Given the description of an element on the screen output the (x, y) to click on. 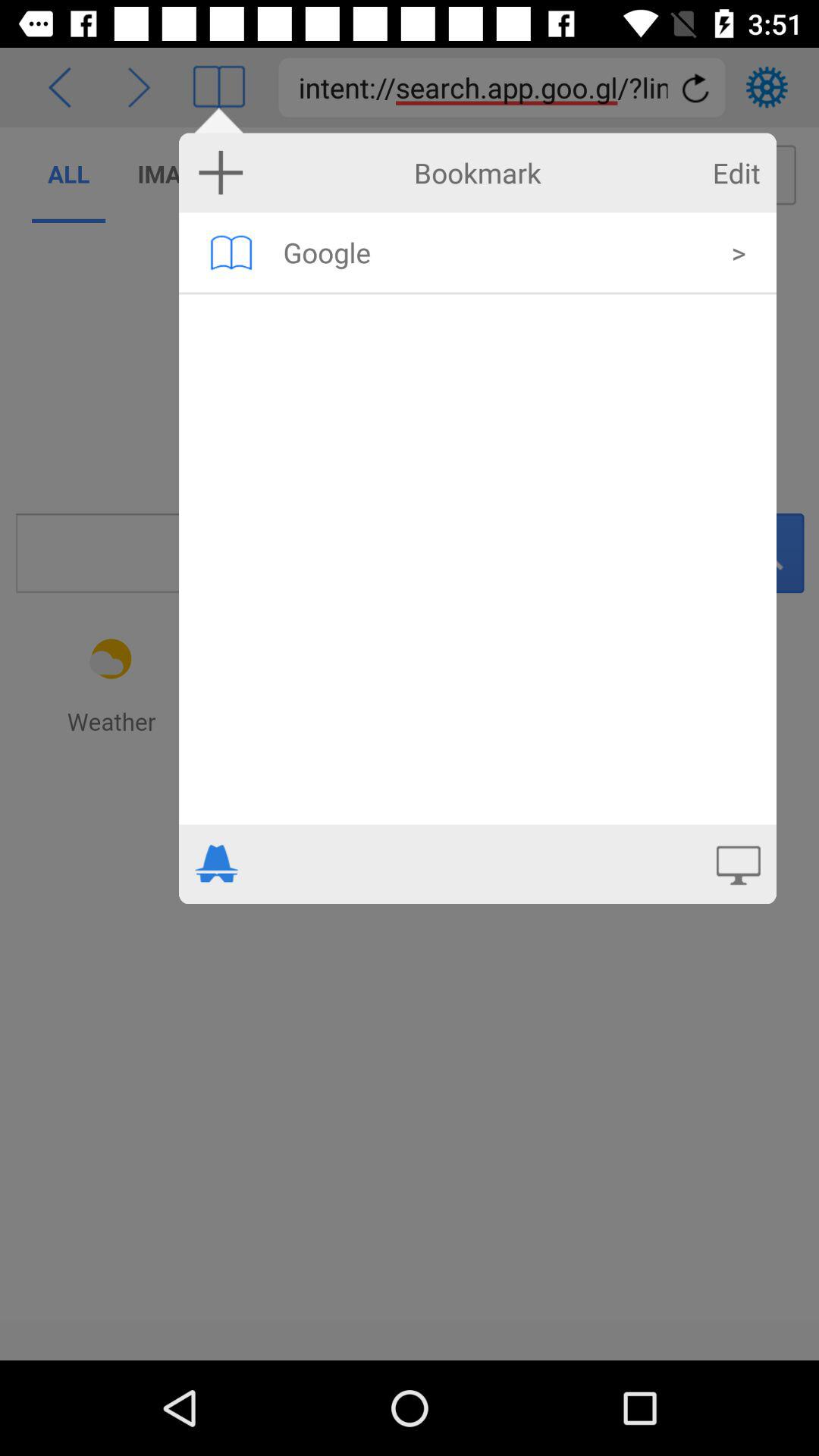
open icon next to the google item (738, 252)
